Given the description of an element on the screen output the (x, y) to click on. 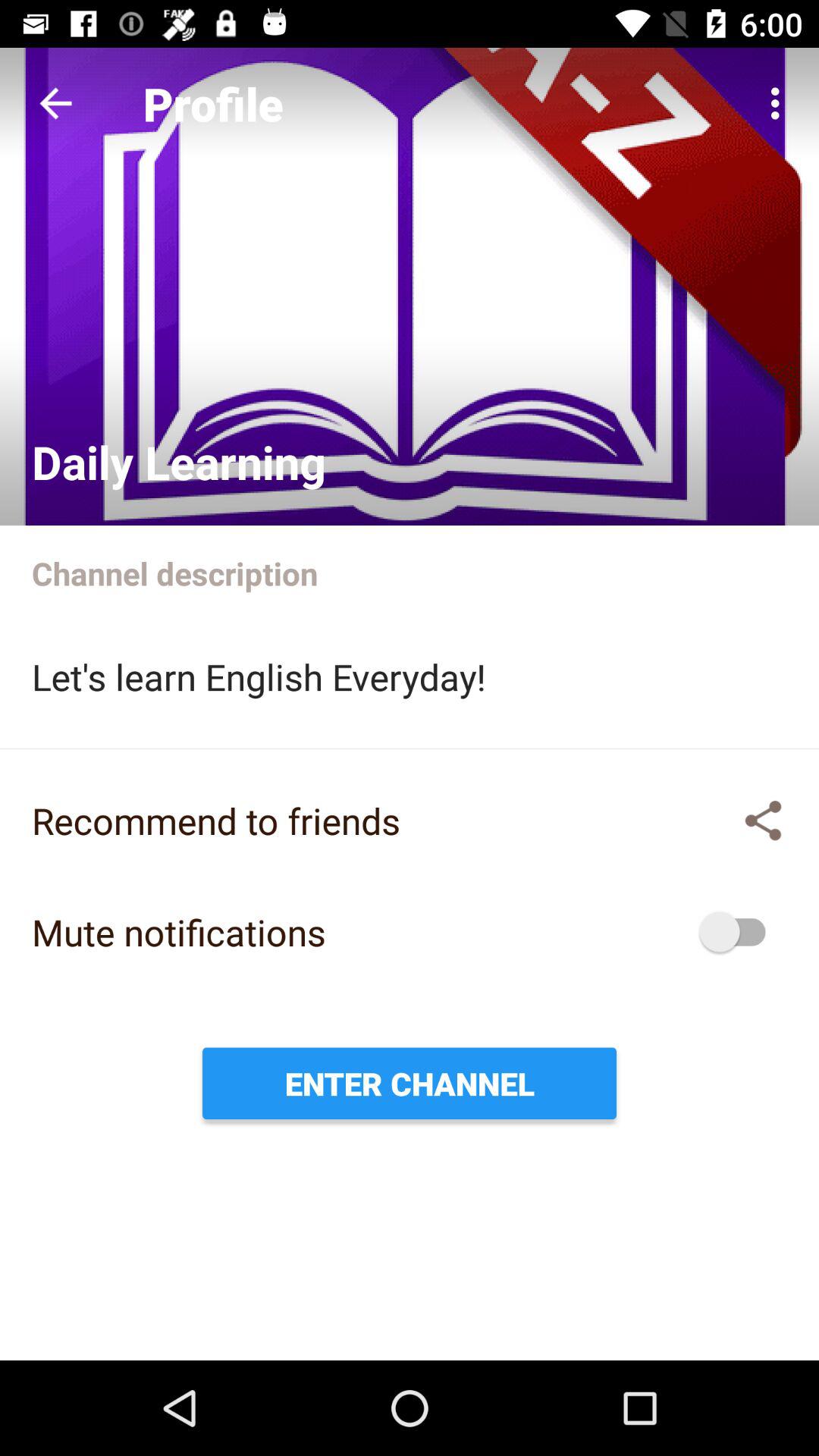
go to book (409, 286)
